Given the description of an element on the screen output the (x, y) to click on. 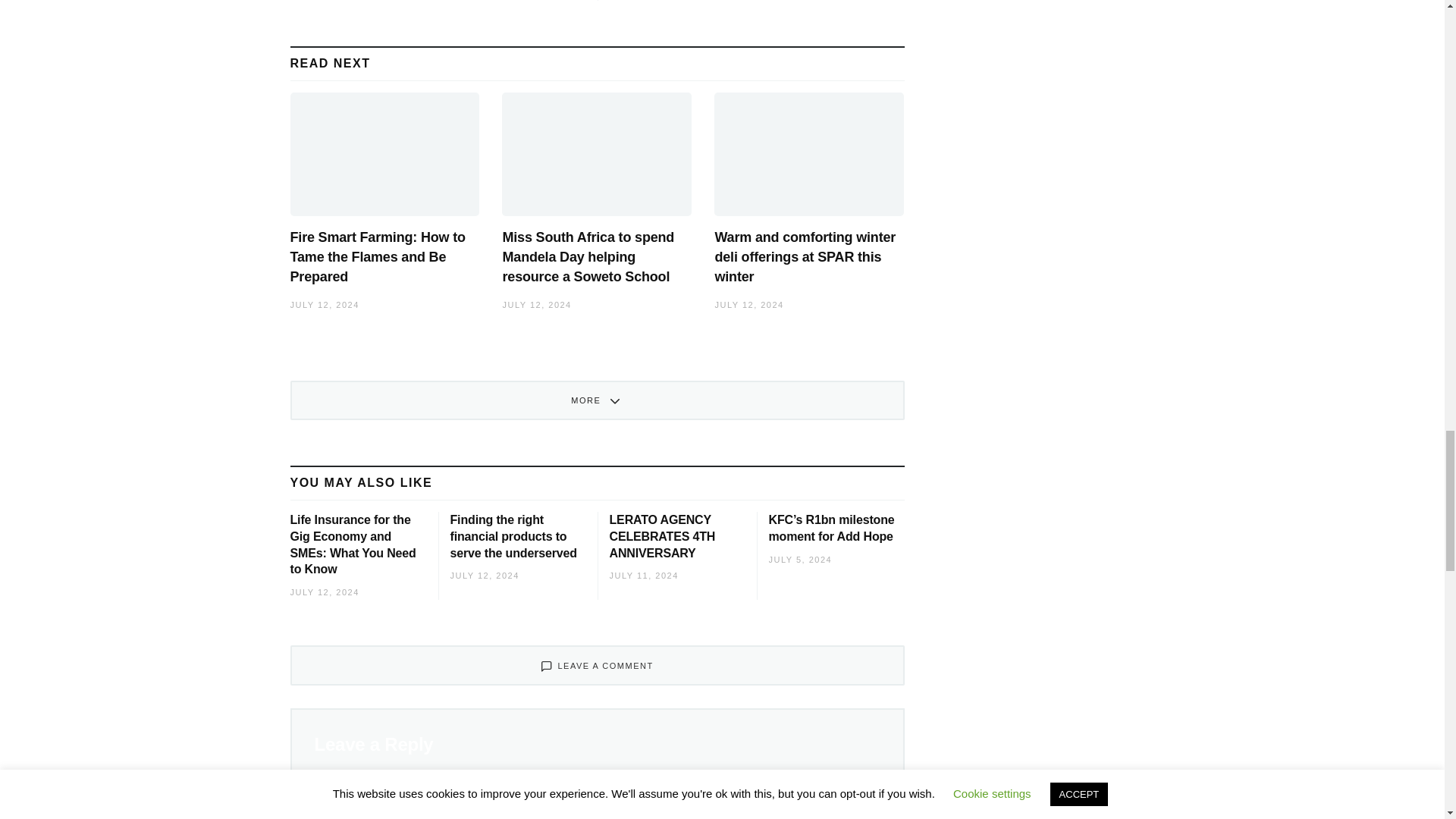
LERATO AGENCY CELEBRATES 4TH ANNIVERSARY (663, 535)
MORE (596, 400)
Fire Smart Farming: How to Tame the Flames and Be Prepared (376, 257)
